Given the description of an element on the screen output the (x, y) to click on. 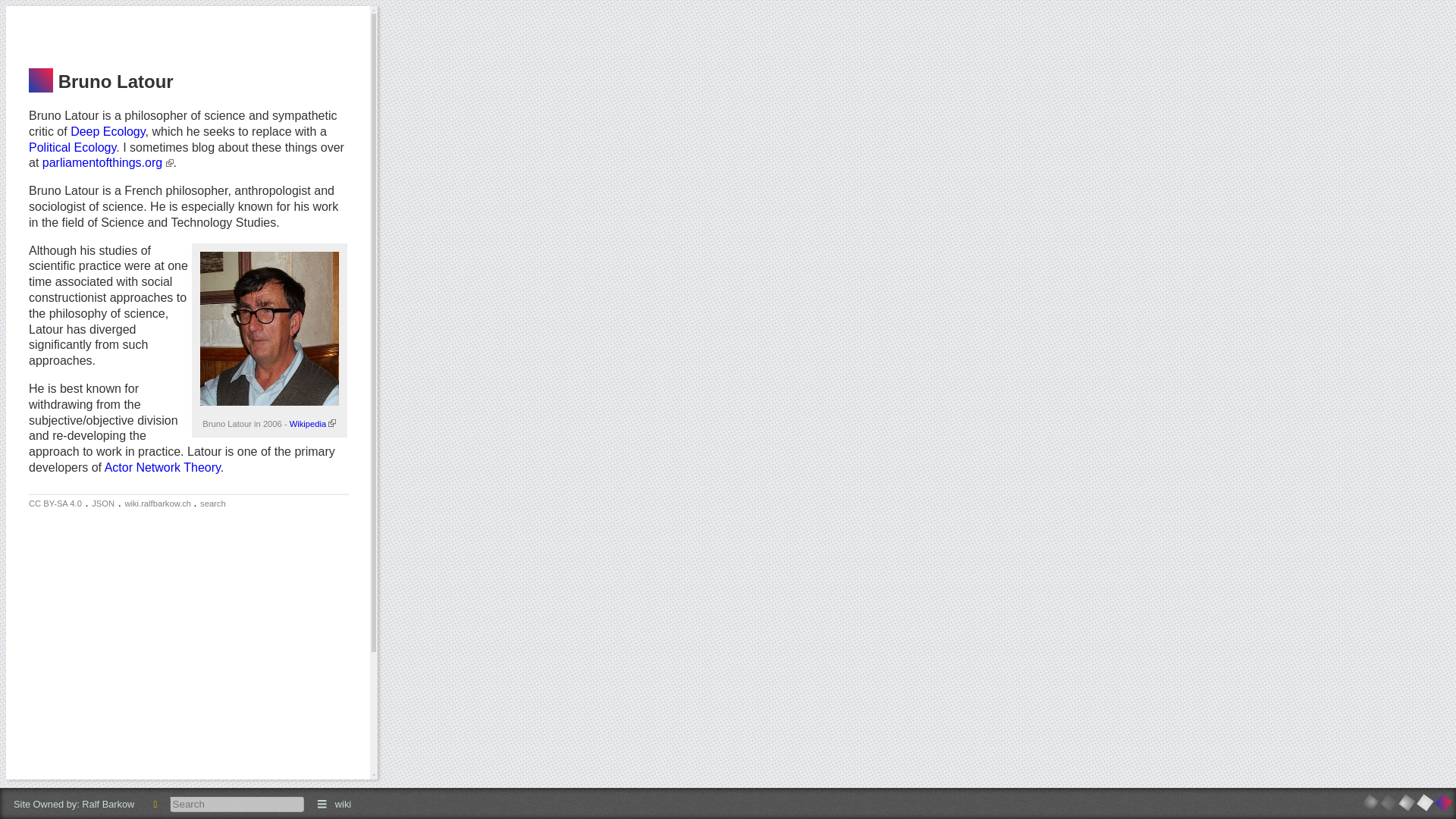
ward.bay.wiki.org (1367, 803)
future.fedwiki.org (1401, 802)
found.ward.bay.wiki.org (1383, 802)
source (103, 502)
wiki.ralfbarkow.ch (158, 502)
parliamentofthings.org (107, 162)
Reclaim this Wiki (155, 803)
Wikipedia (312, 423)
search (212, 502)
Deep Ecology (106, 131)
